Given the description of an element on the screen output the (x, y) to click on. 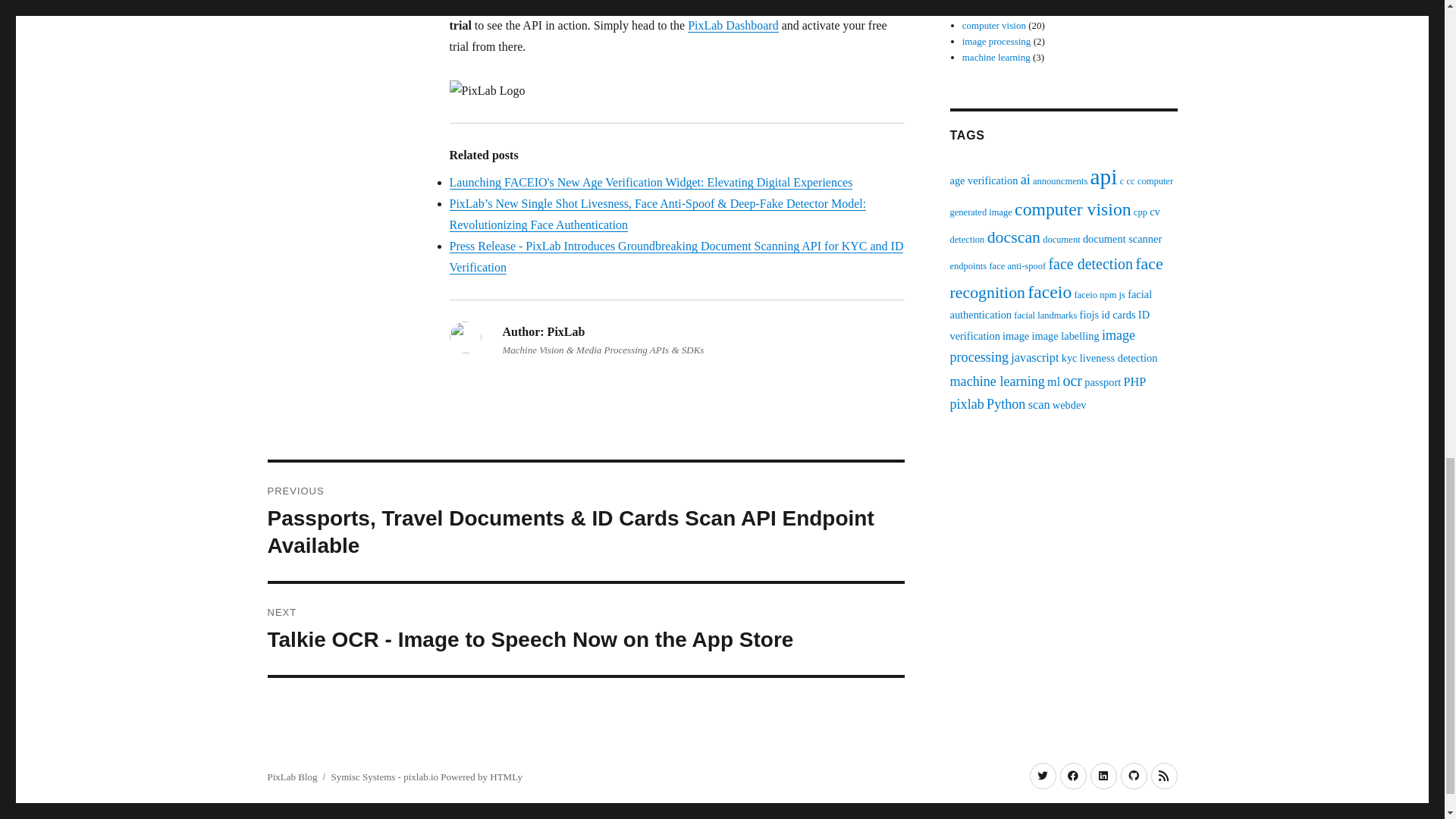
PixLab Dashboard (732, 24)
